Given the description of an element on the screen output the (x, y) to click on. 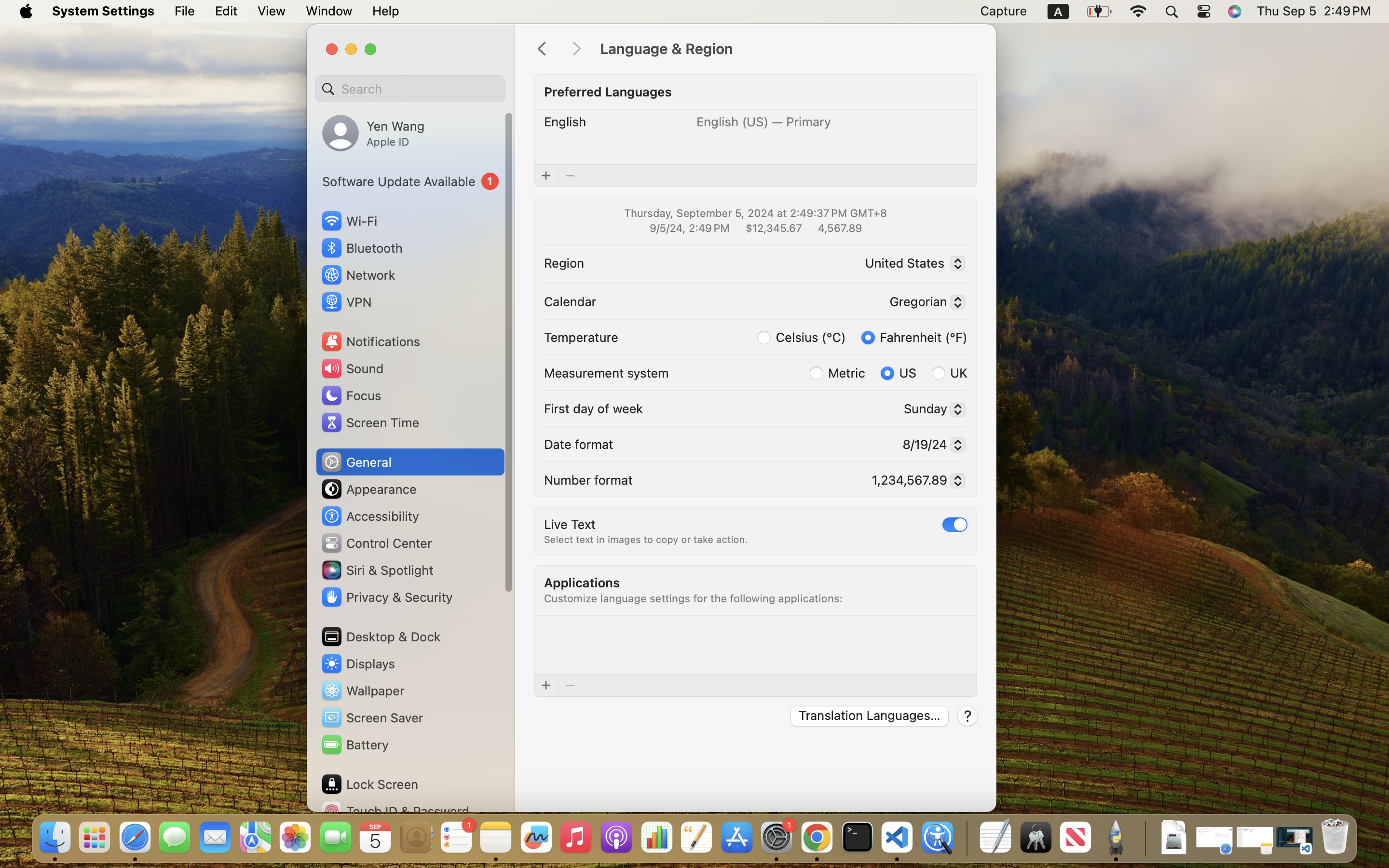
Yen Wang, Apple ID Element type: AXStaticText (373, 132)
1 Element type: AXStaticText (410, 180)
Lock Screen Element type: AXStaticText (369, 783)
First day of week Element type: AXStaticText (593, 407)
Sound Element type: AXStaticText (351, 367)
